Given the description of an element on the screen output the (x, y) to click on. 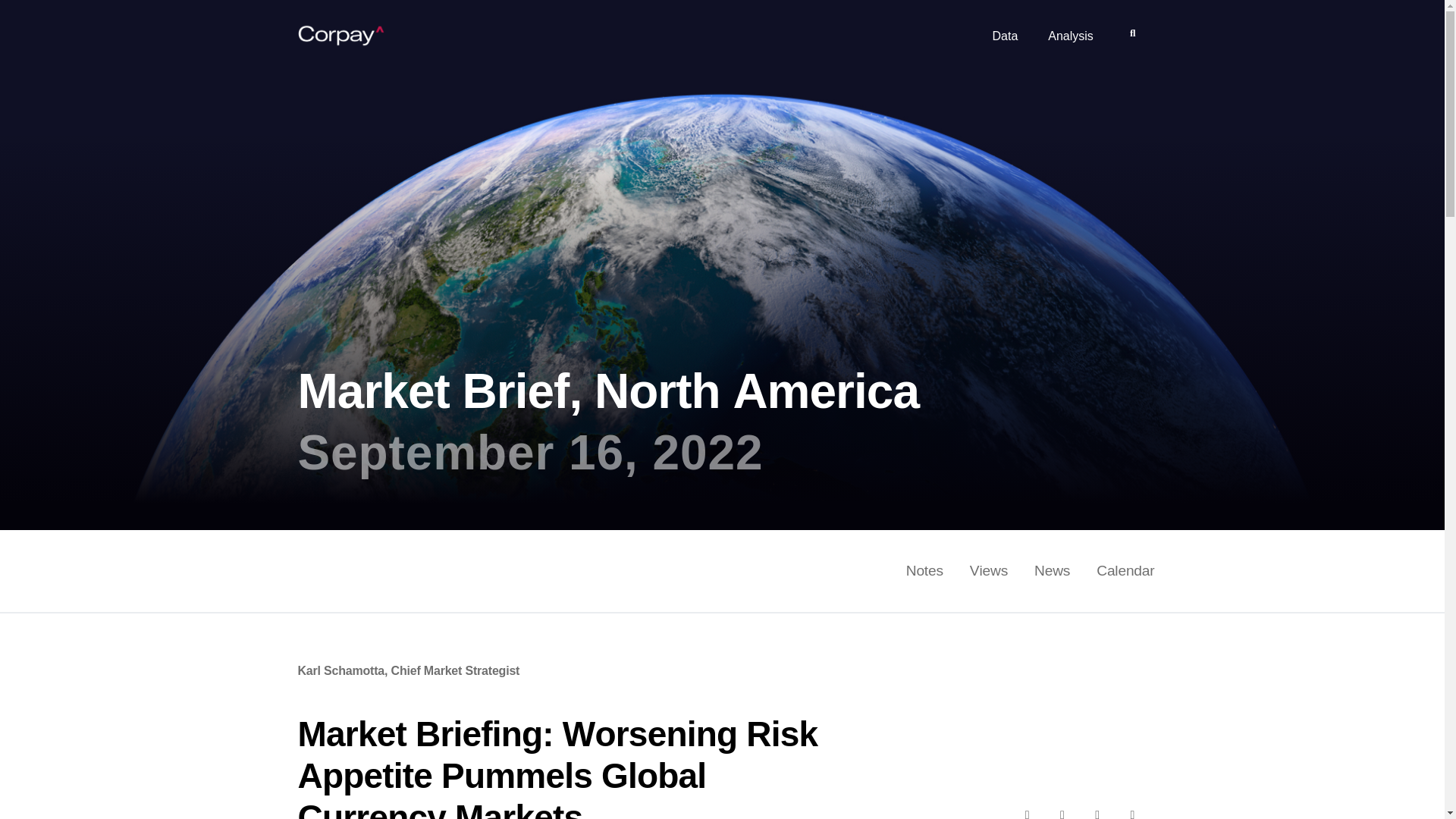
Data (1004, 41)
Analysis (1070, 41)
